Given the description of an element on the screen output the (x, y) to click on. 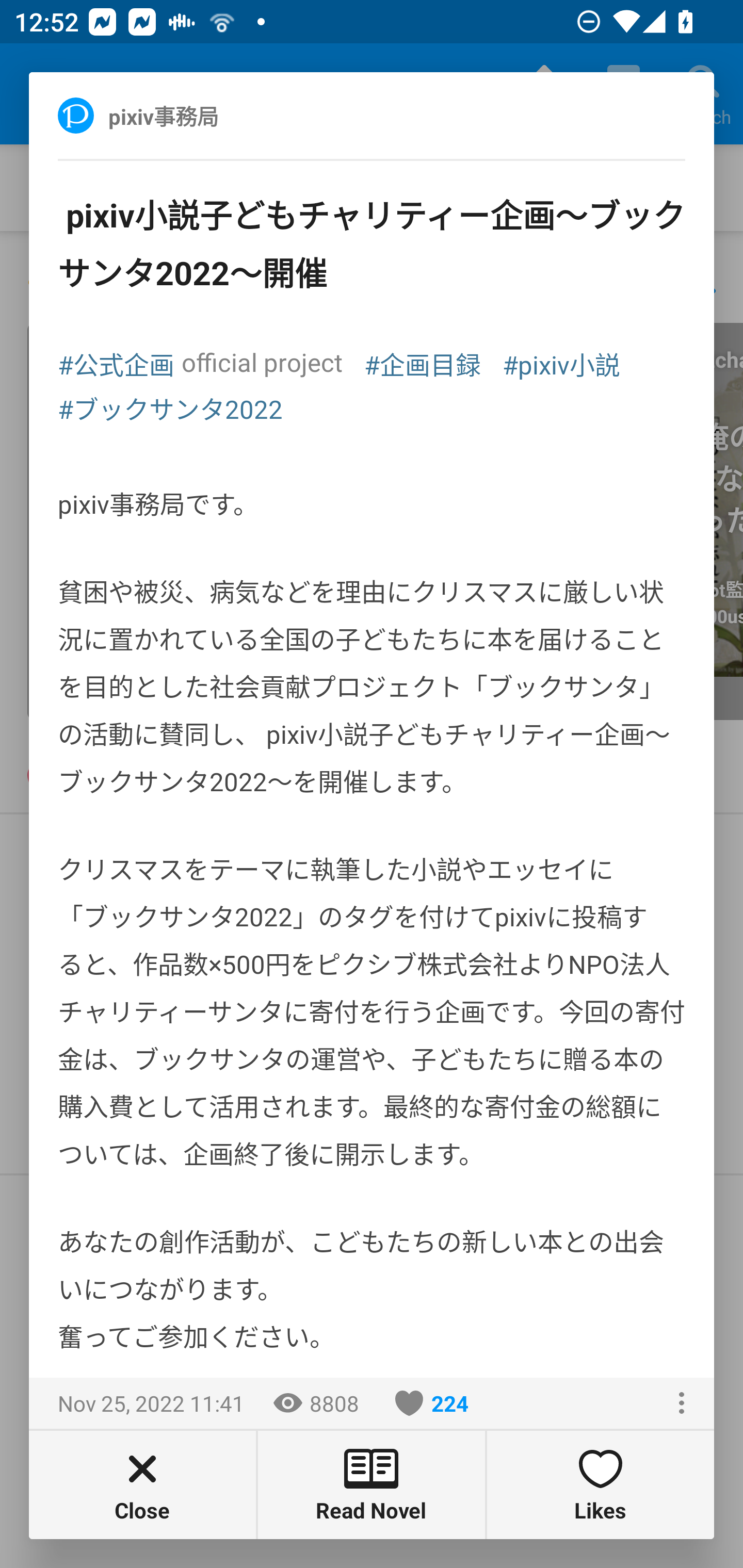
pixiv事務局 (184, 115)
#公式企画 (115, 363)
official project (261, 361)
#企画目録 (422, 363)
#pixiv小説 (561, 363)
#ブックサンタ2022 (170, 407)
224 (431, 1403)
Close (141, 1484)
Read Novel (371, 1484)
